Given the description of an element on the screen output the (x, y) to click on. 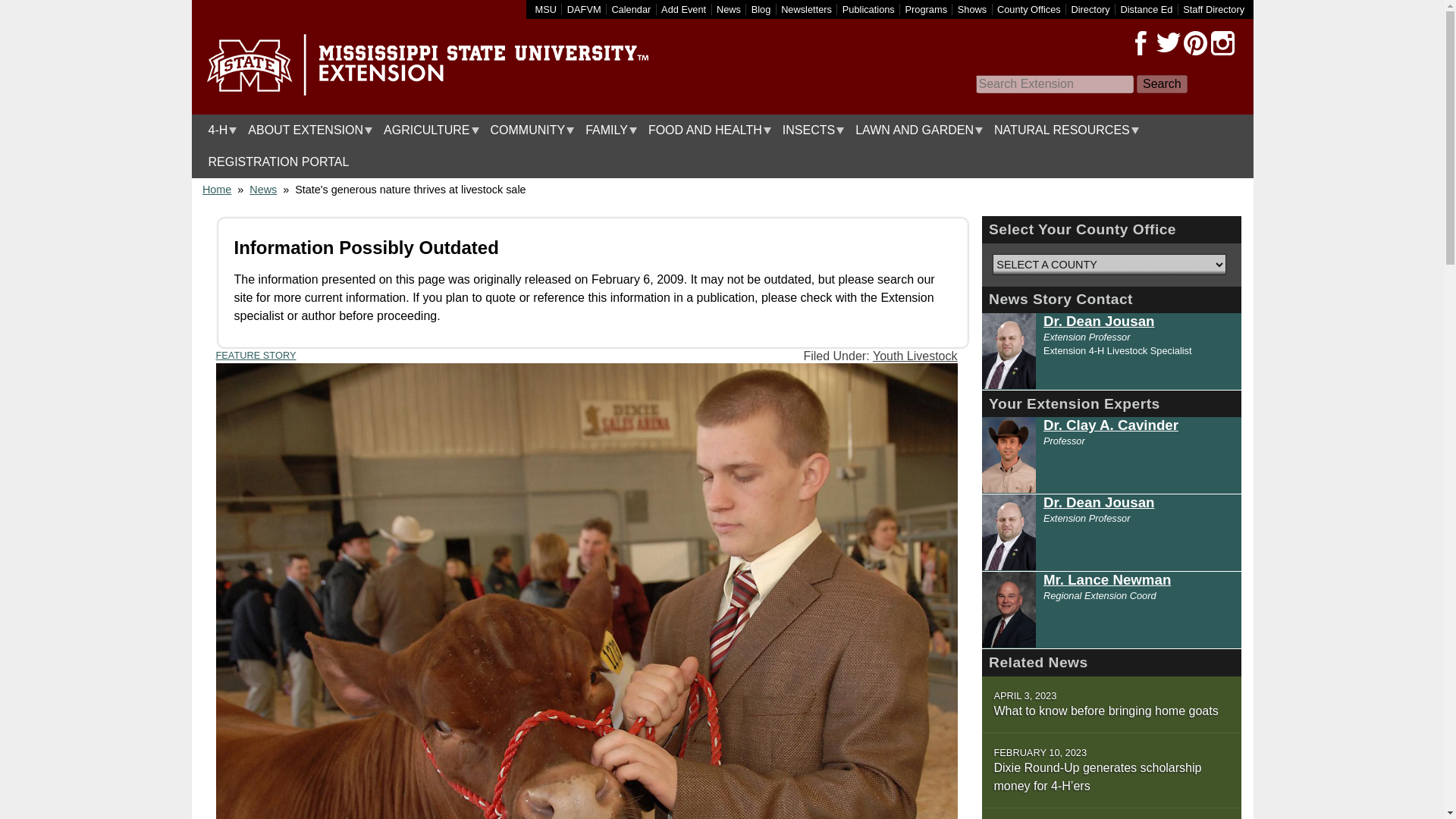
4-H (218, 130)
DAFVM (584, 9)
Shows (972, 9)
Staff Directory (1213, 9)
Directory (1089, 9)
News (728, 9)
Pinterest (1194, 43)
Instagram (1221, 43)
Search (1162, 84)
Directory of employees of the MSU Extension Service (1213, 9)
County Offices (1029, 9)
